Given the description of an element on the screen output the (x, y) to click on. 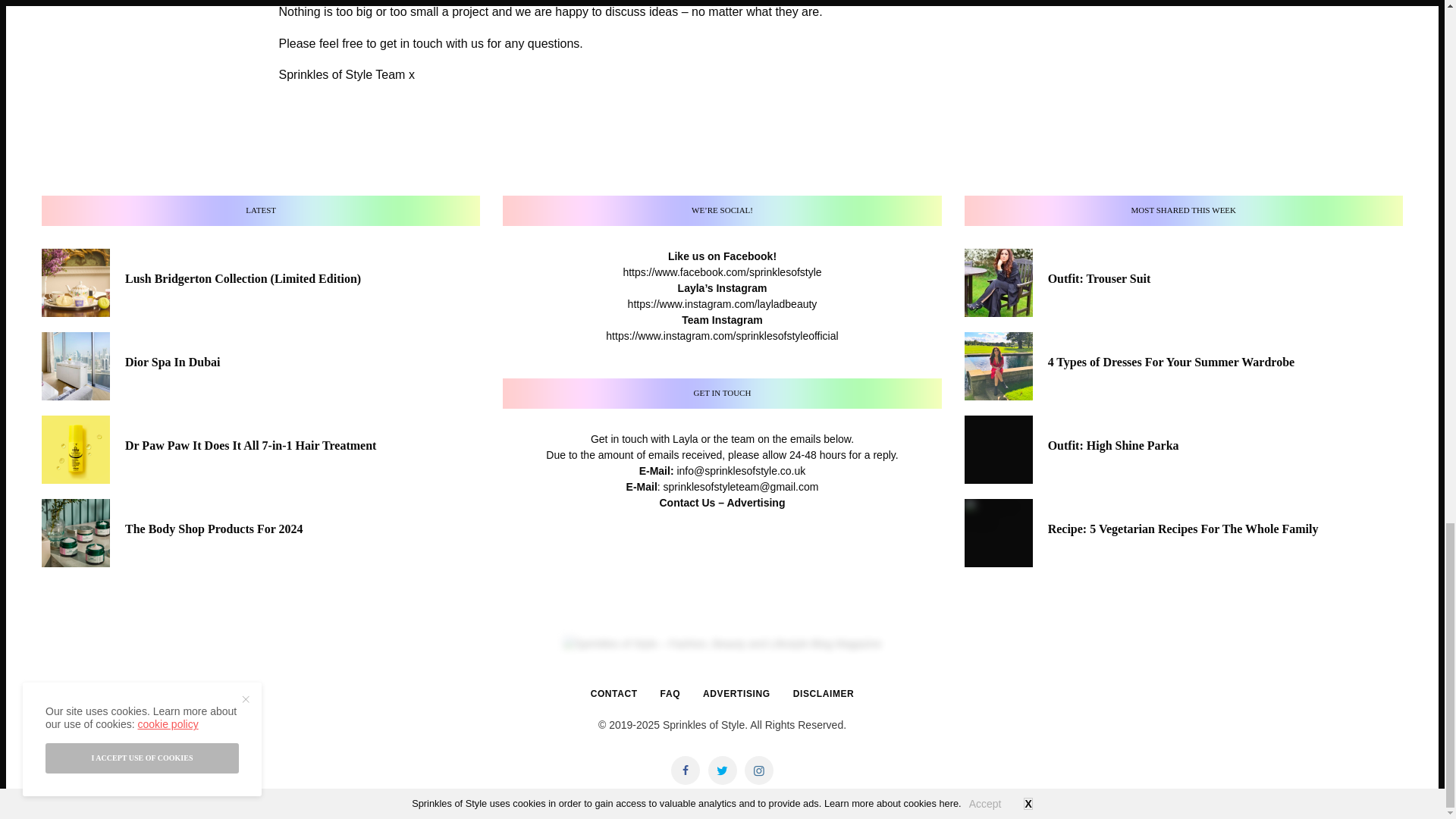
Recipe: 5 Vegetarian Recipes For The Whole Family (1183, 528)
The Body Shop Products For 2024 (213, 528)
Outfit: Trouser Suit (1099, 279)
4 Types of Dresses For Your Summer Wardrobe (1171, 362)
Outfit: High Shine Parka (1113, 445)
Dior Spa In Dubai (173, 362)
Dr Paw Paw It Does It All 7-in-1 Hair Treatment (250, 445)
